Given the description of an element on the screen output the (x, y) to click on. 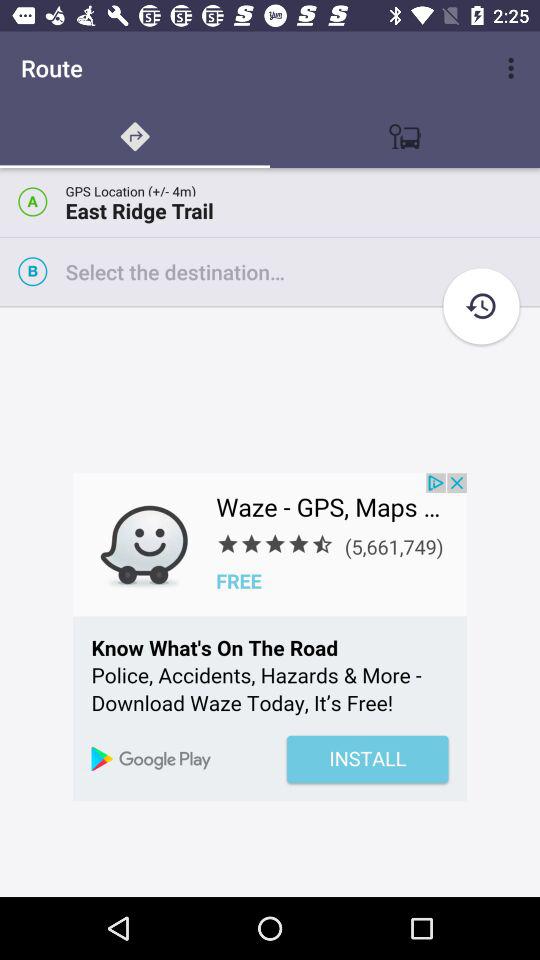
waze gps installation (269, 637)
